Given the description of an element on the screen output the (x, y) to click on. 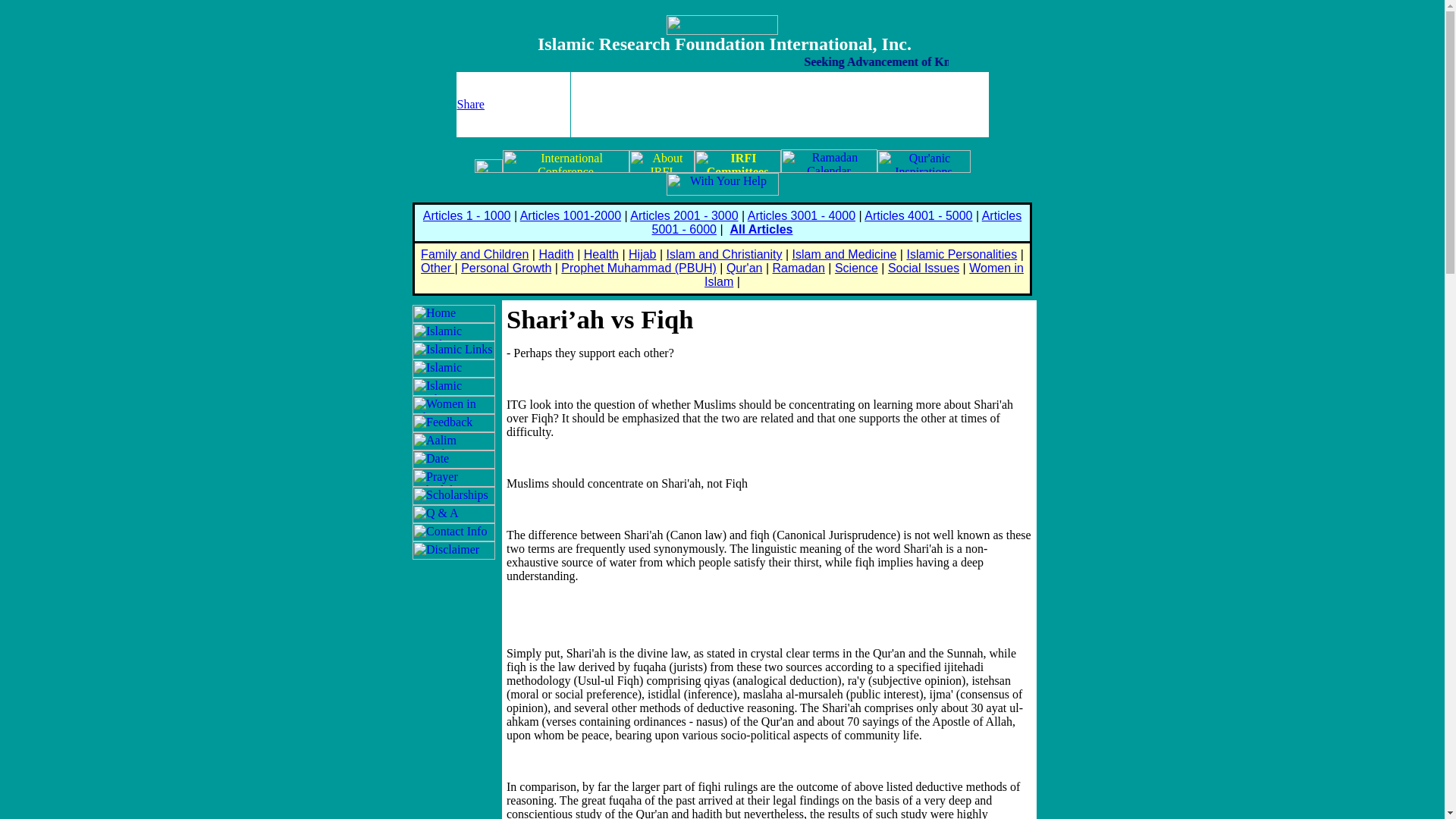
Women in Islam (863, 274)
All Articles (760, 228)
Islamic Personalities (960, 254)
Articles 2001 - 3000 (684, 215)
Articles 4001 - 5000 (918, 215)
Articles 1001-2000 (570, 215)
Islam and Medicine (844, 254)
Articles 1 - 1000 (467, 215)
Health (600, 254)
Ramadan (797, 267)
Social Issues (923, 267)
Other (437, 267)
Qur'an (744, 267)
Hijab (642, 254)
Personal Growth (506, 267)
